Given the description of an element on the screen output the (x, y) to click on. 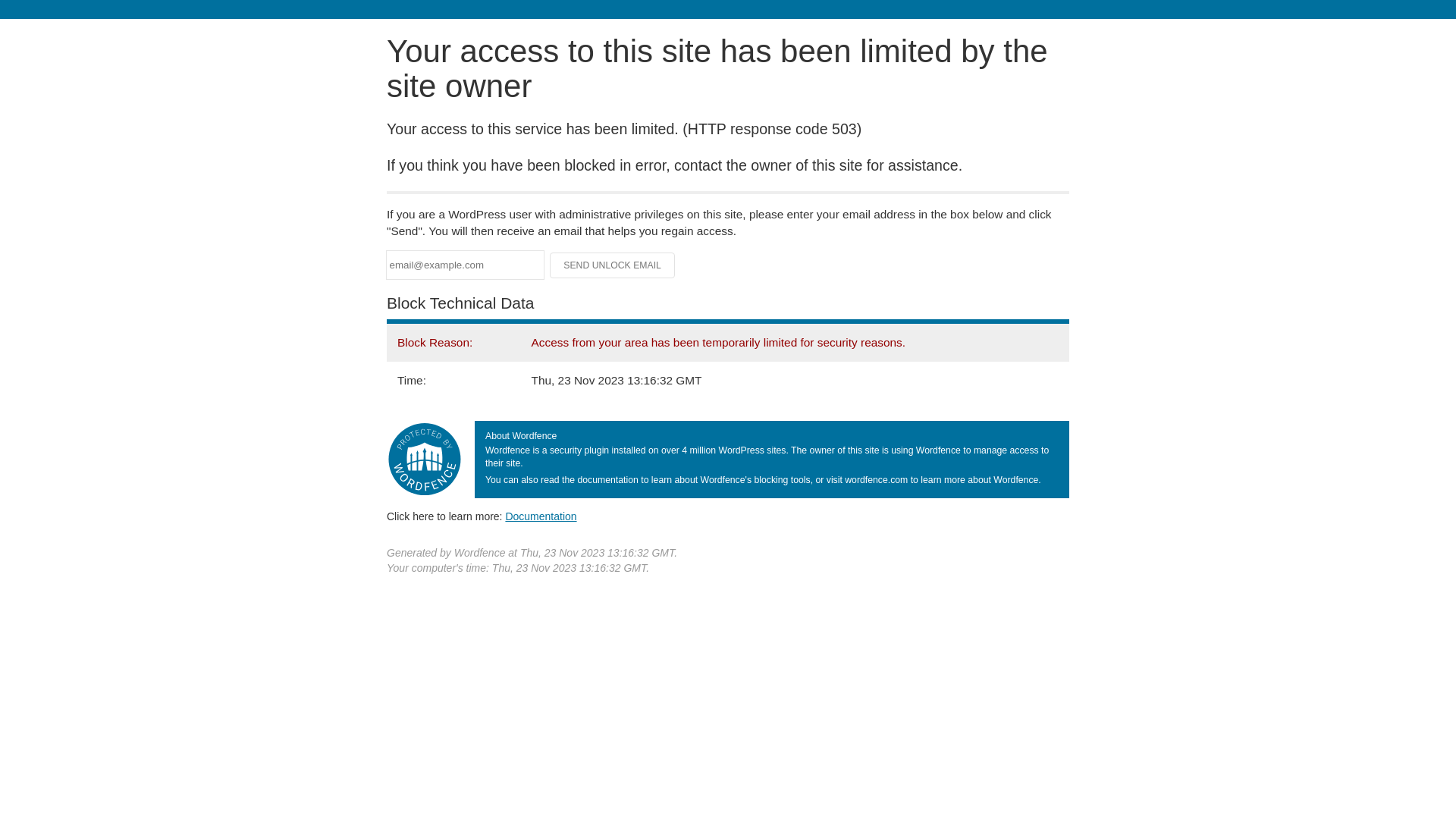
Send Unlock Email Element type: text (612, 265)
Documentation Element type: text (540, 516)
